Given the description of an element on the screen output the (x, y) to click on. 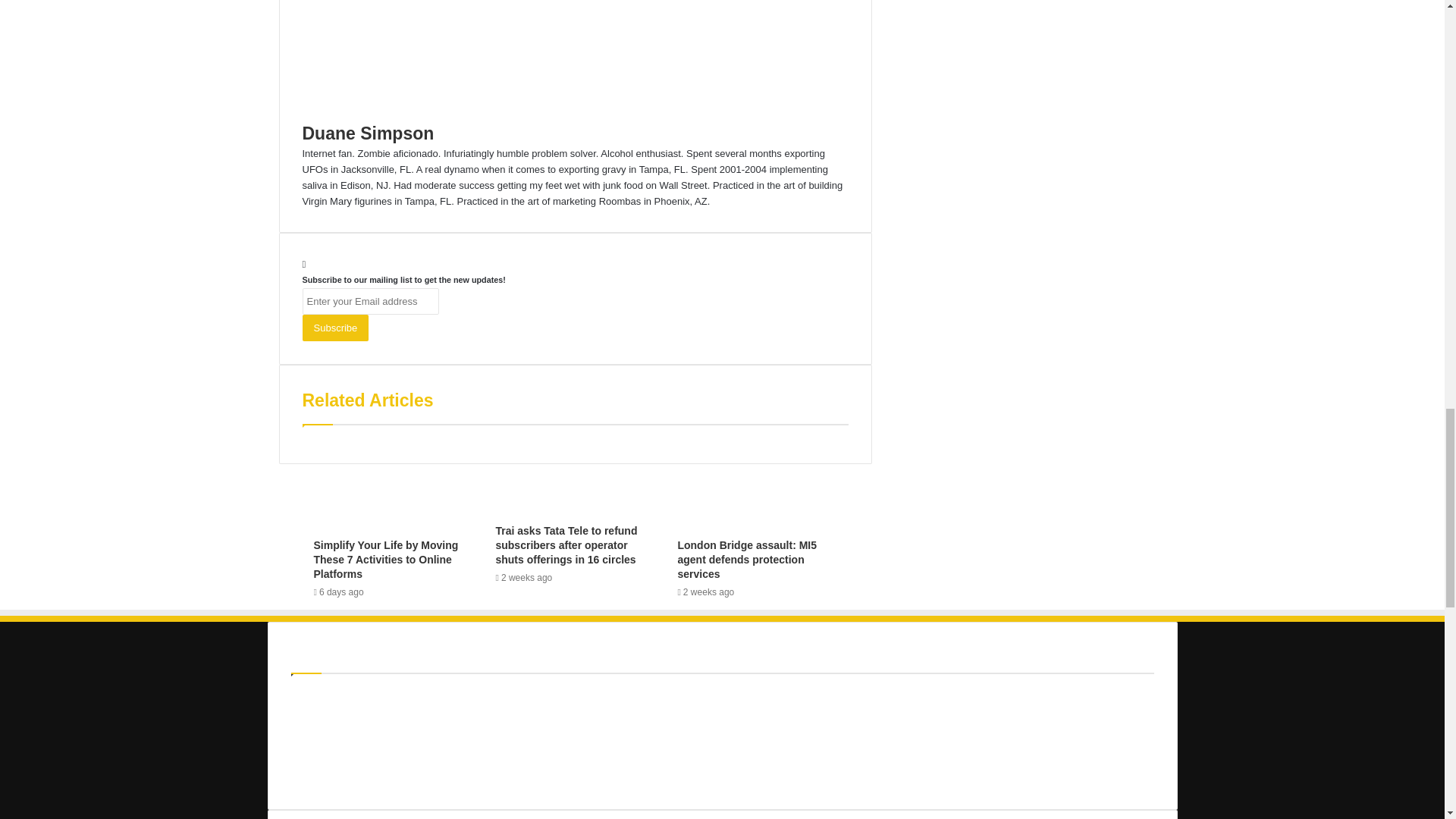
Subscribe (334, 327)
